Given the description of an element on the screen output the (x, y) to click on. 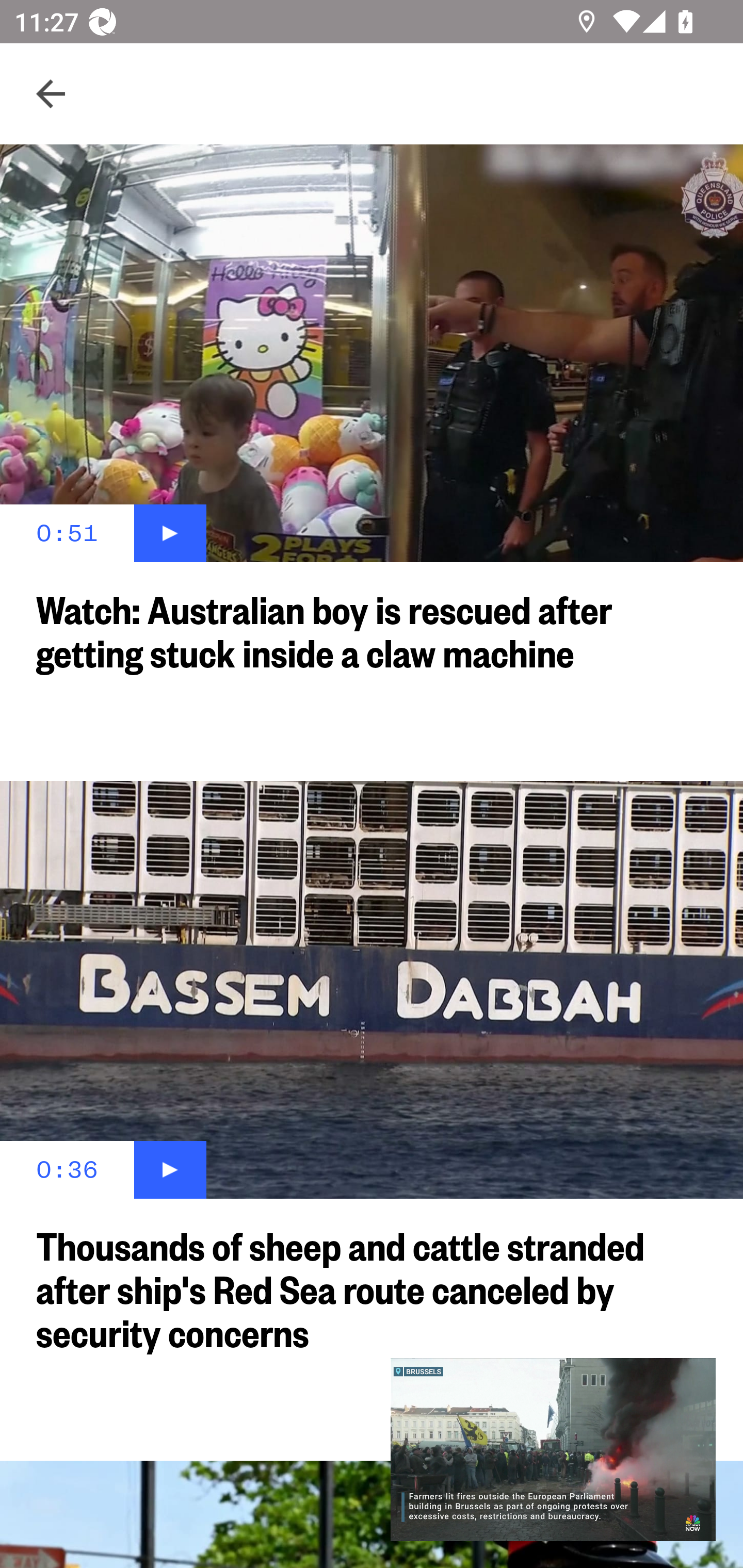
Navigate up (50, 93)
